Given the description of an element on the screen output the (x, y) to click on. 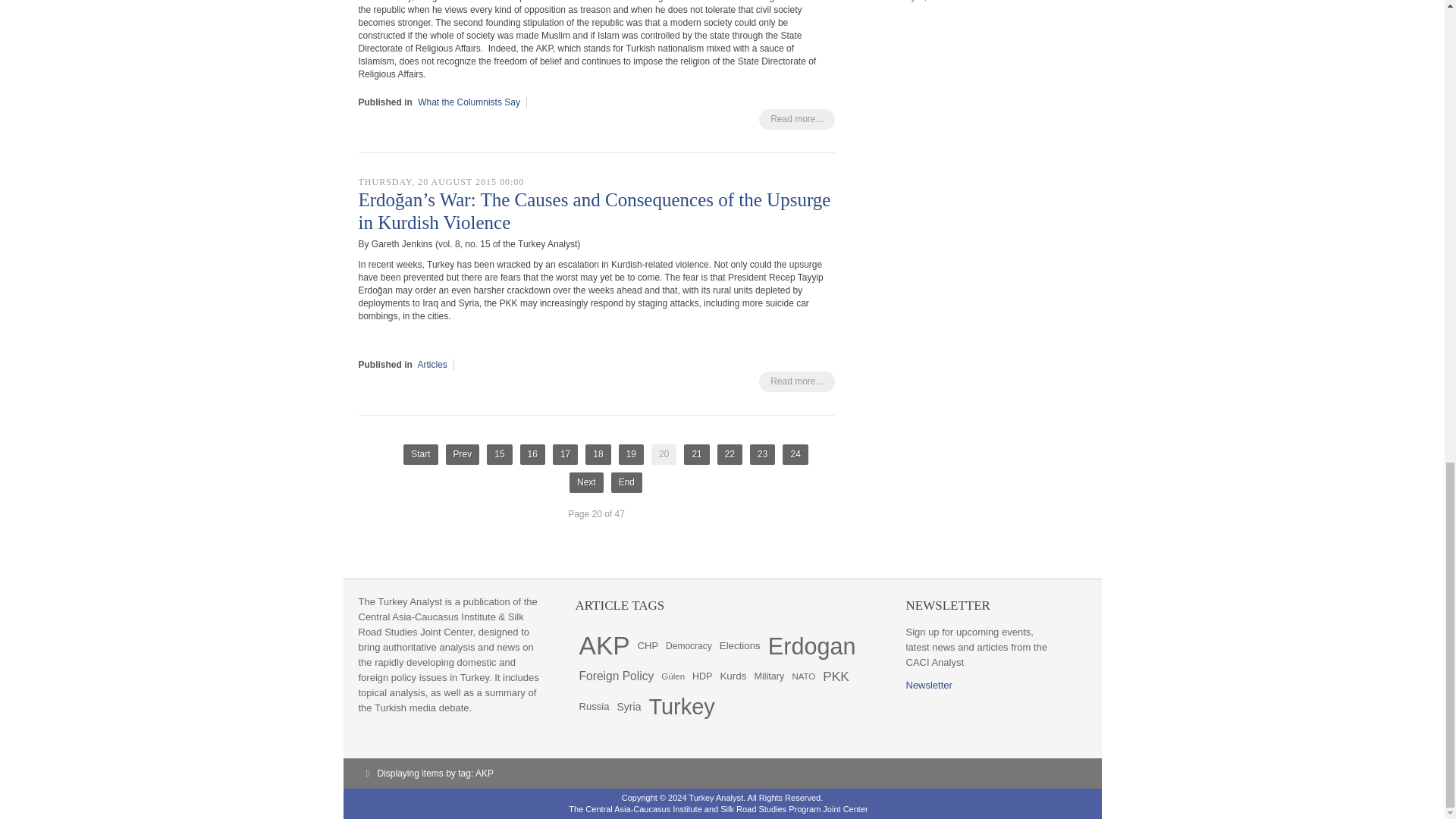
What the Columnists Say (468, 102)
190 items tagged with AKP (604, 645)
Start (420, 454)
18 (597, 454)
23 (761, 454)
24 (795, 454)
18 (597, 454)
21 (696, 454)
38 items tagged with CHP (647, 645)
End (626, 482)
